Given the description of an element on the screen output the (x, y) to click on. 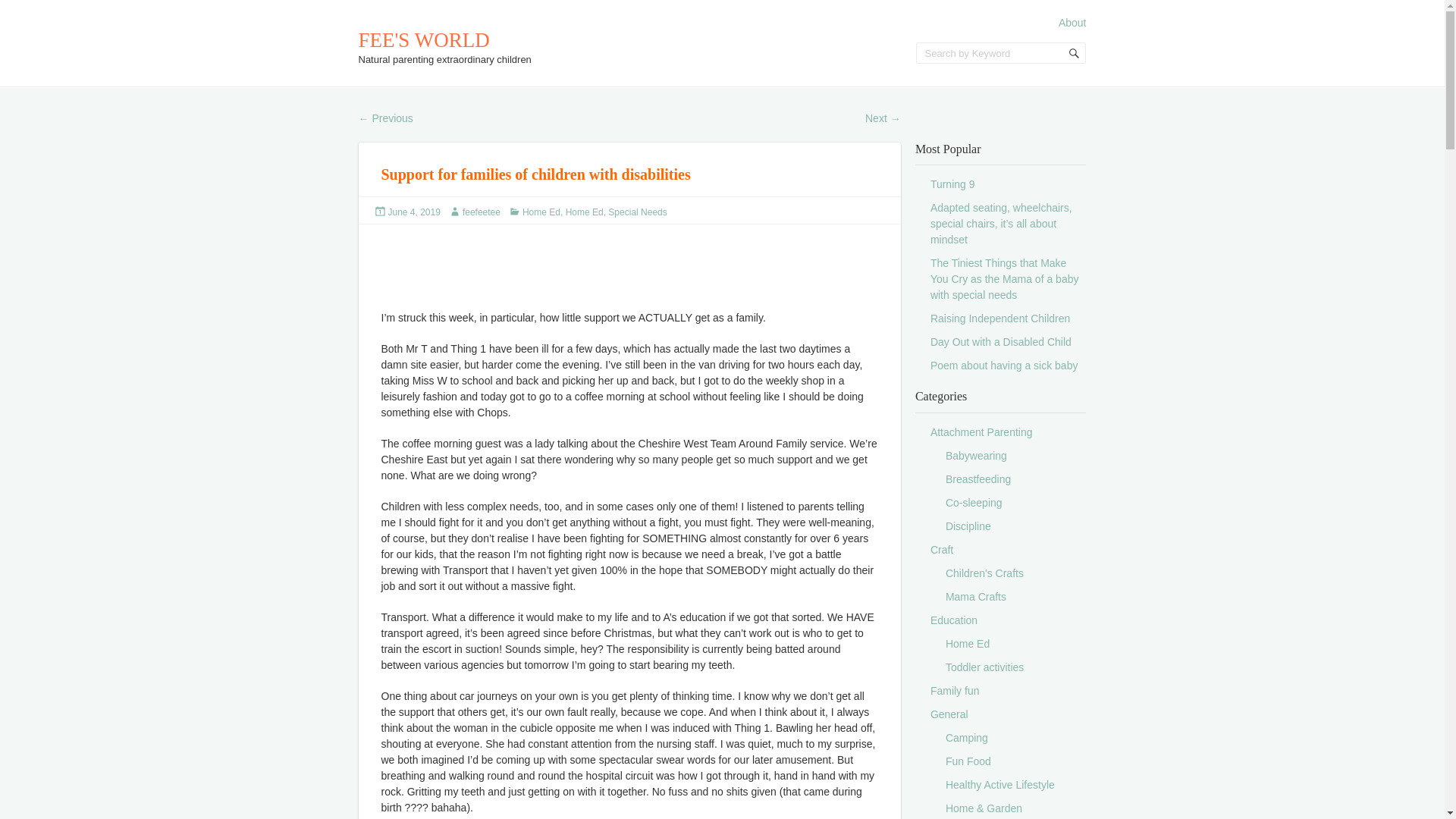
June 4, 2019 (414, 211)
Attachment Parenting (981, 431)
feefeetee (481, 211)
FEE'S WORLD (423, 39)
Poem about having a sick baby (1004, 365)
View all posts by feefeetee (481, 211)
Breastfeeding (977, 479)
Raising Independent Children (1000, 318)
Mama Crafts (975, 596)
